Given the description of an element on the screen output the (x, y) to click on. 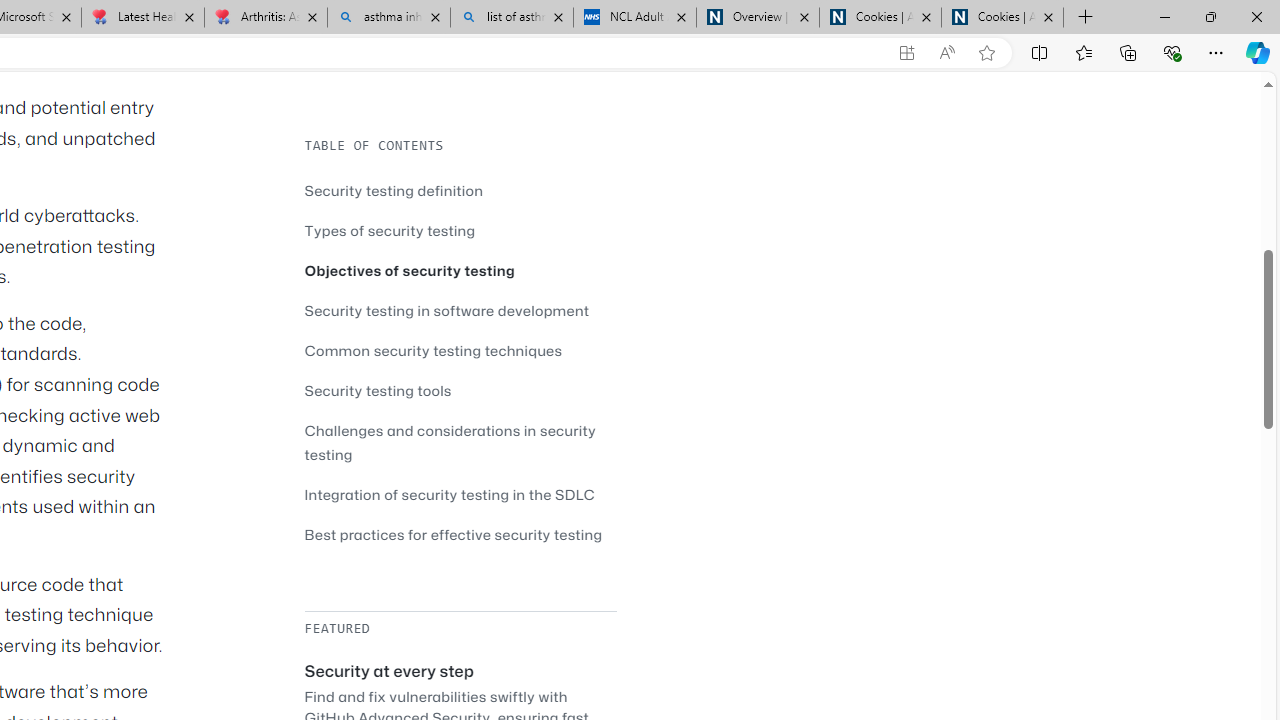
Integration of security testing in the SDLC (460, 493)
Challenges and considerations in security testing (460, 442)
Best practices for effective security testing (453, 534)
App available. Install GitHub (906, 53)
Integration of security testing in the SDLC (449, 494)
Security testing in software development (460, 310)
